Given the description of an element on the screen output the (x, y) to click on. 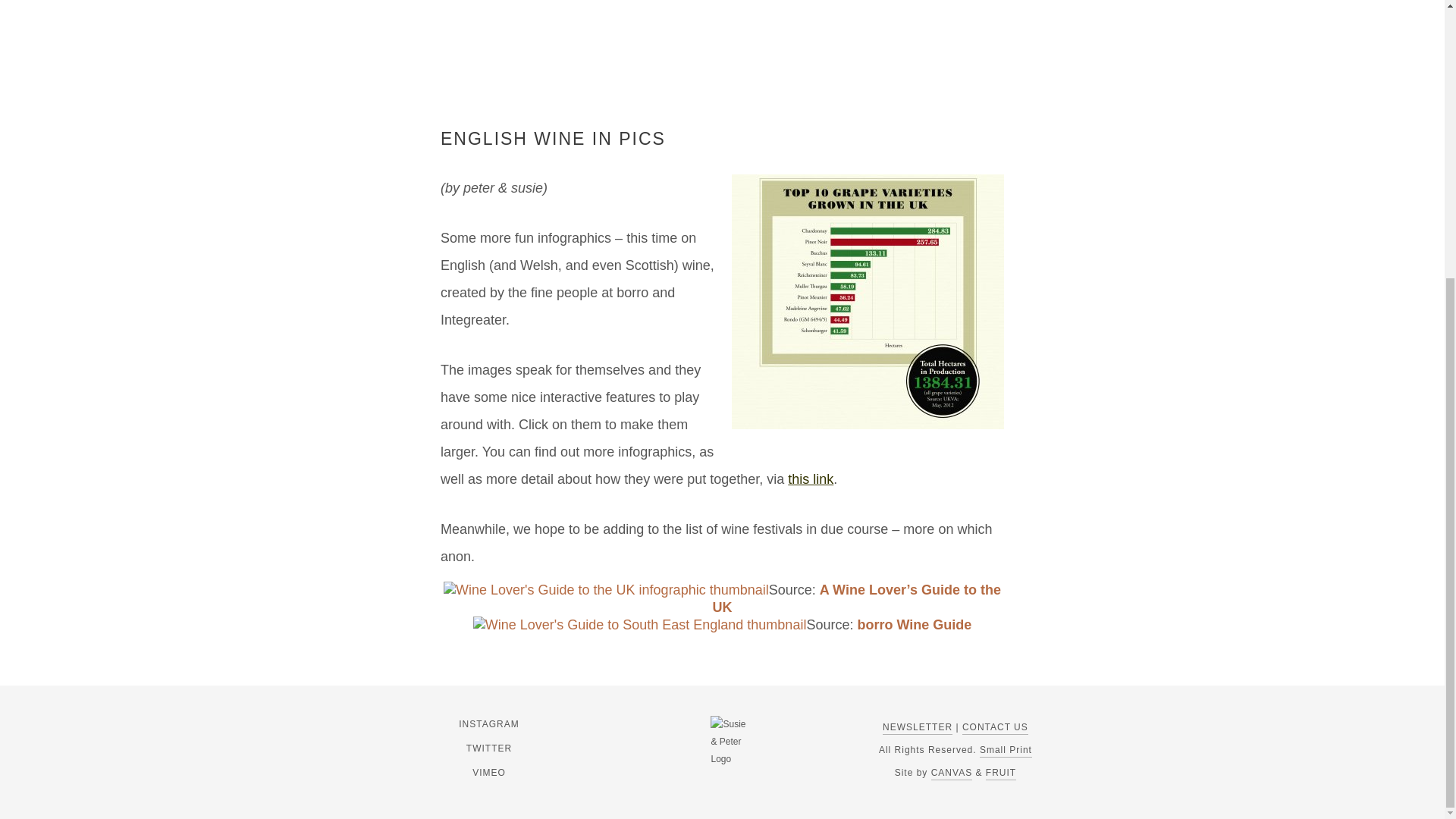
borro Wine Guide (914, 624)
TWITTER (488, 748)
NEWSLETTER (917, 727)
CONTACT US (994, 727)
INSTAGRAM (488, 723)
See the full Wine Lover's Guide to the UK infographic (606, 589)
Small Print (1005, 750)
this link (809, 478)
VIMEO (488, 772)
See the full Wine Lover's Guide to the UK infographic (639, 624)
